Given the description of an element on the screen output the (x, y) to click on. 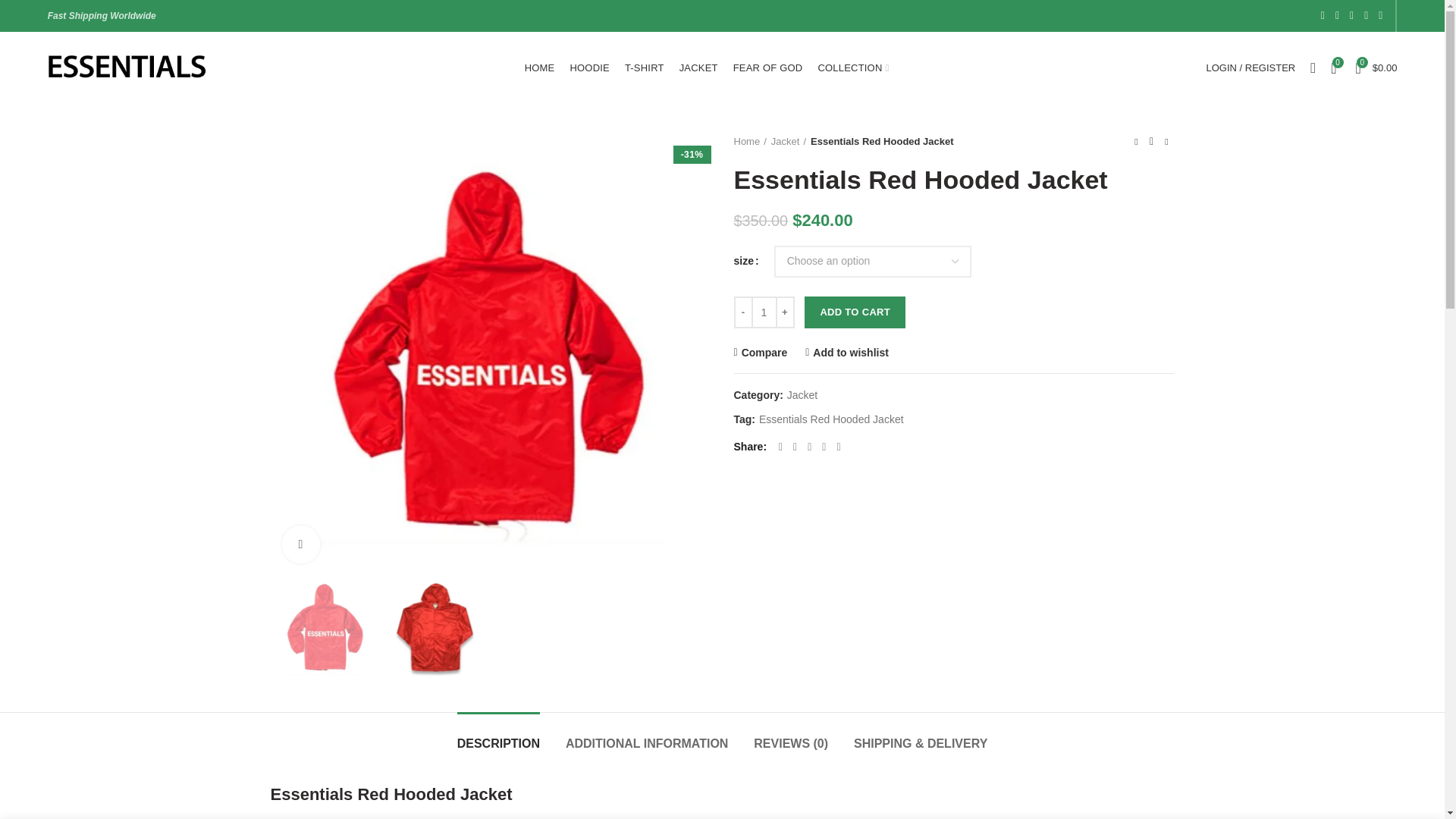
T-SHIRT (644, 68)
Previous product (1135, 141)
COLLECTION (852, 68)
Next product (1165, 141)
Essentials Red Hooded Jacket (435, 627)
FEAR OF GOD (767, 68)
Shopping cart (1376, 68)
Jacket (788, 141)
HOODIE (588, 68)
Essentials Red Hooded Jacket (324, 627)
Home (750, 141)
JACKET (698, 68)
HOME (539, 68)
My account (1250, 68)
